Given the description of an element on the screen output the (x, y) to click on. 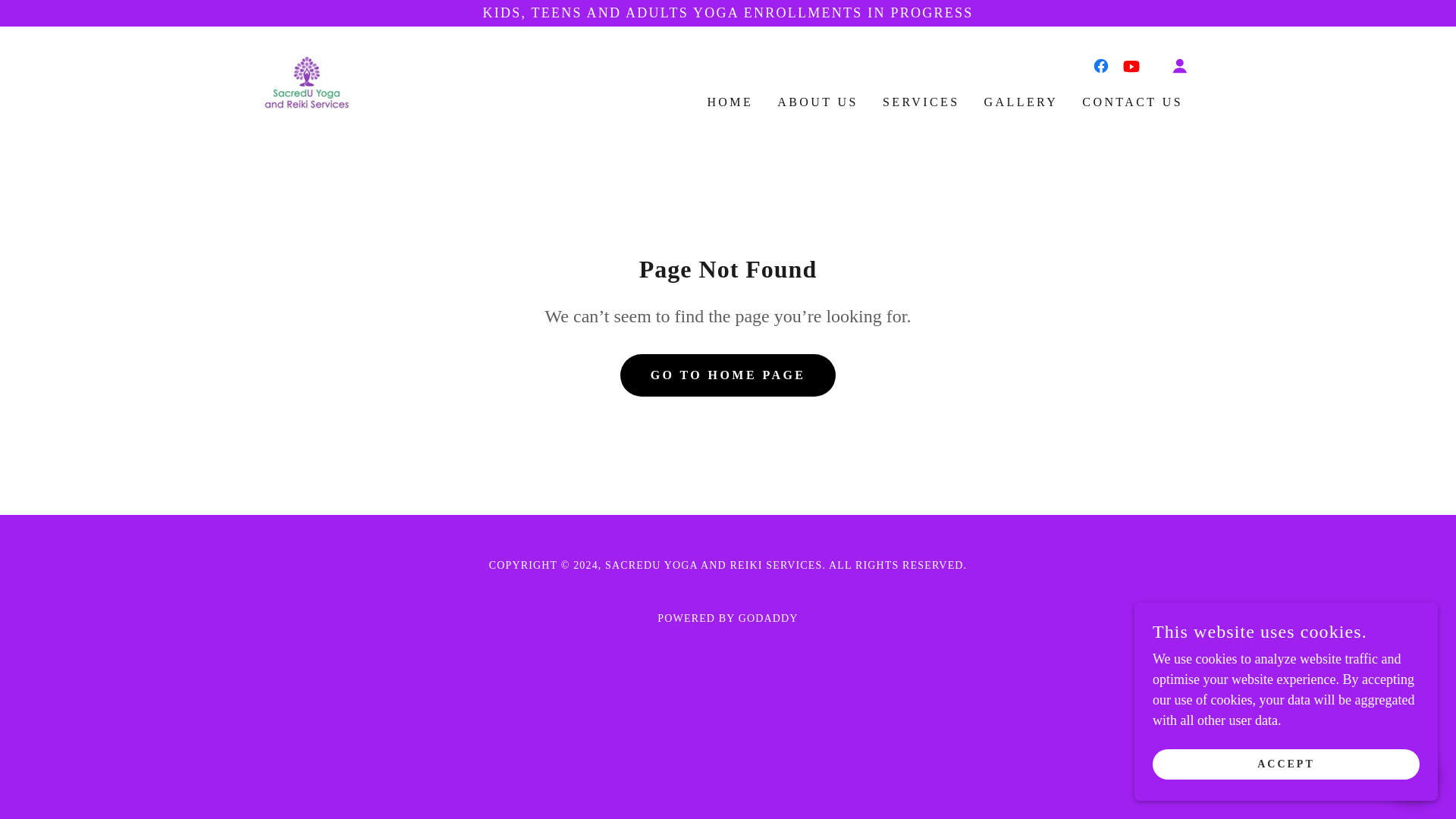
GALLERY (1020, 102)
SERVICES (920, 102)
CONTACT US (1132, 102)
GO TO HOME PAGE (727, 374)
GODADDY (767, 618)
ABOUT US (818, 102)
SacredU Yoga and Reiki Services (306, 79)
ACCEPT (1286, 764)
HOME (729, 102)
